Given the description of an element on the screen output the (x, y) to click on. 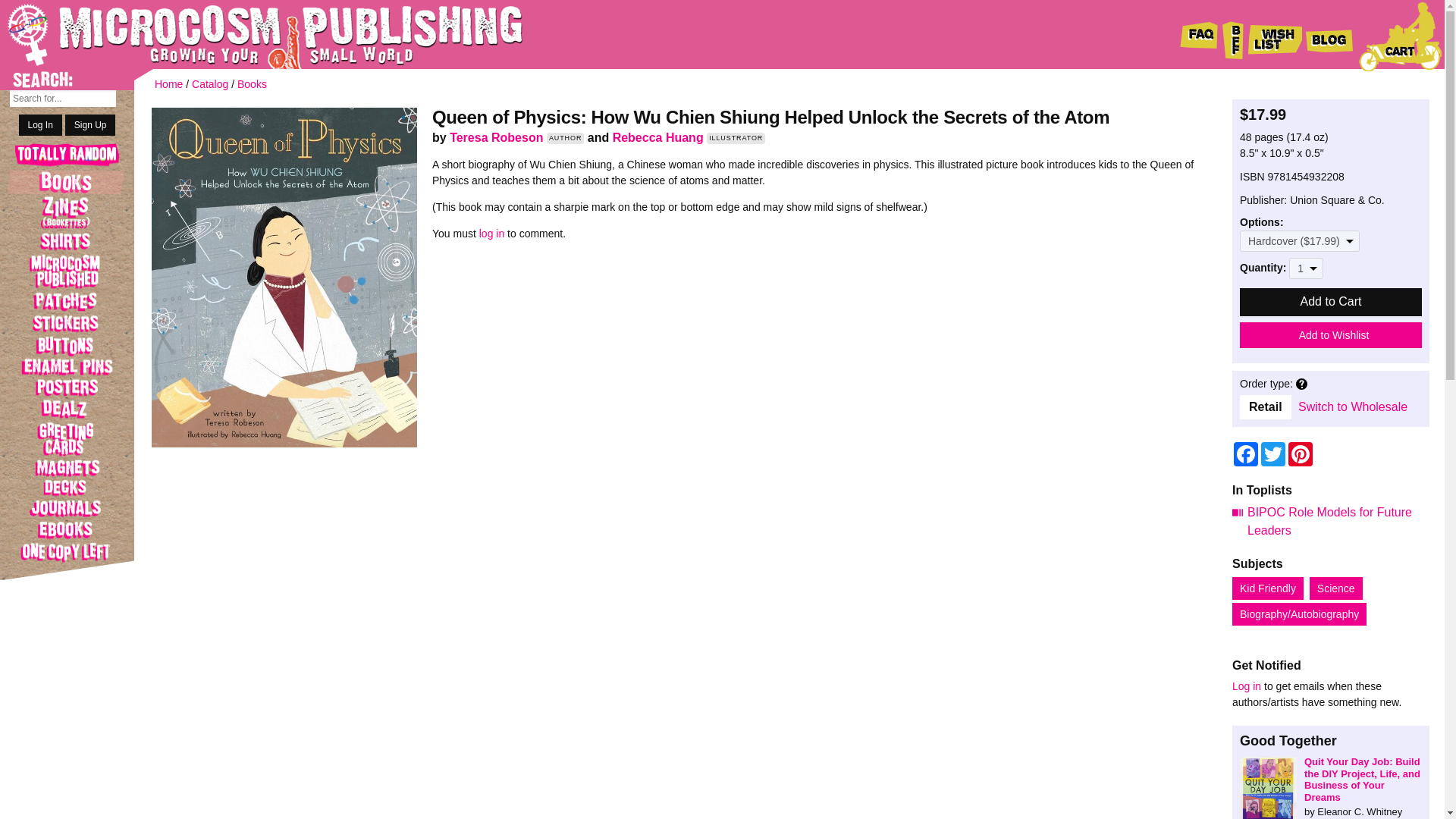
Zines (66, 212)
Add to Cart (1331, 302)
Shirts (66, 241)
back to Microcosm Publishing homepage (242, 34)
Log In (40, 124)
Books (66, 181)
Jump to totally random title (66, 156)
Totally Random (66, 156)
cart (1399, 36)
